Given the description of an element on the screen output the (x, y) to click on. 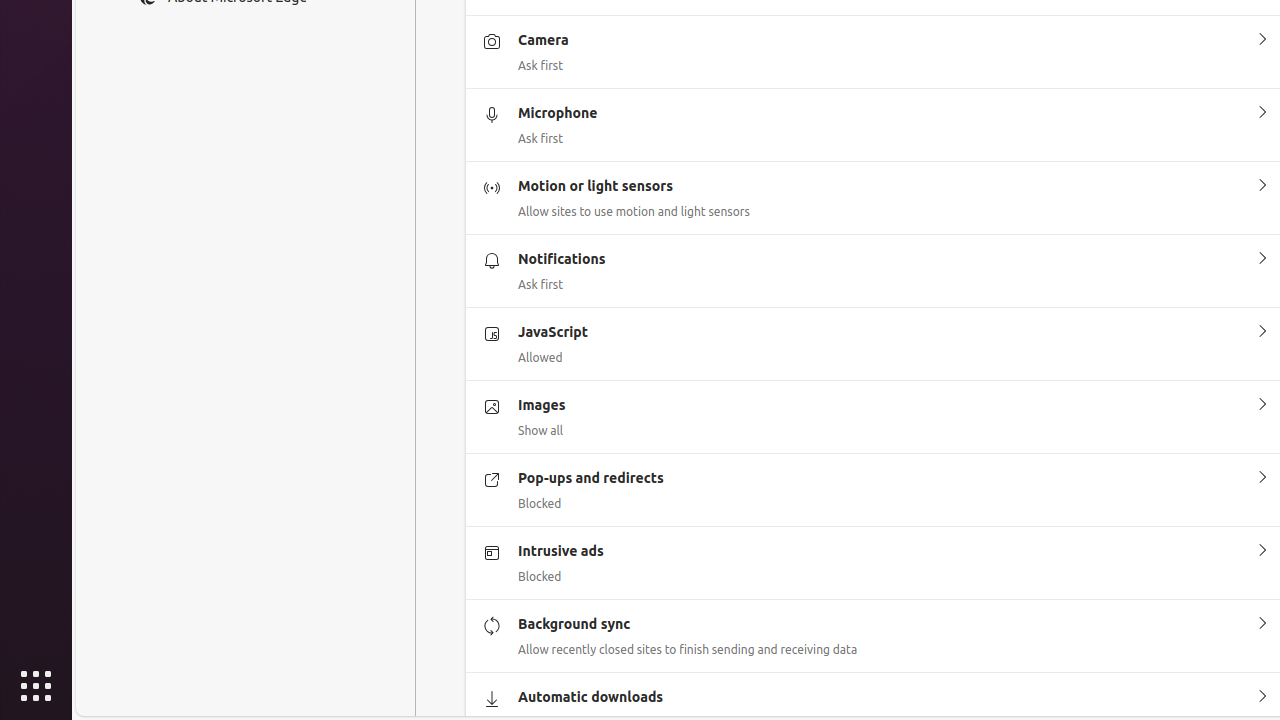
Intrusive ads Element type: push-button (1262, 551)
Images Element type: push-button (1262, 405)
Pop-ups and redirects Element type: push-button (1262, 477)
Notifications Element type: push-button (1262, 258)
Microphone Element type: push-button (1262, 113)
